Given the description of an element on the screen output the (x, y) to click on. 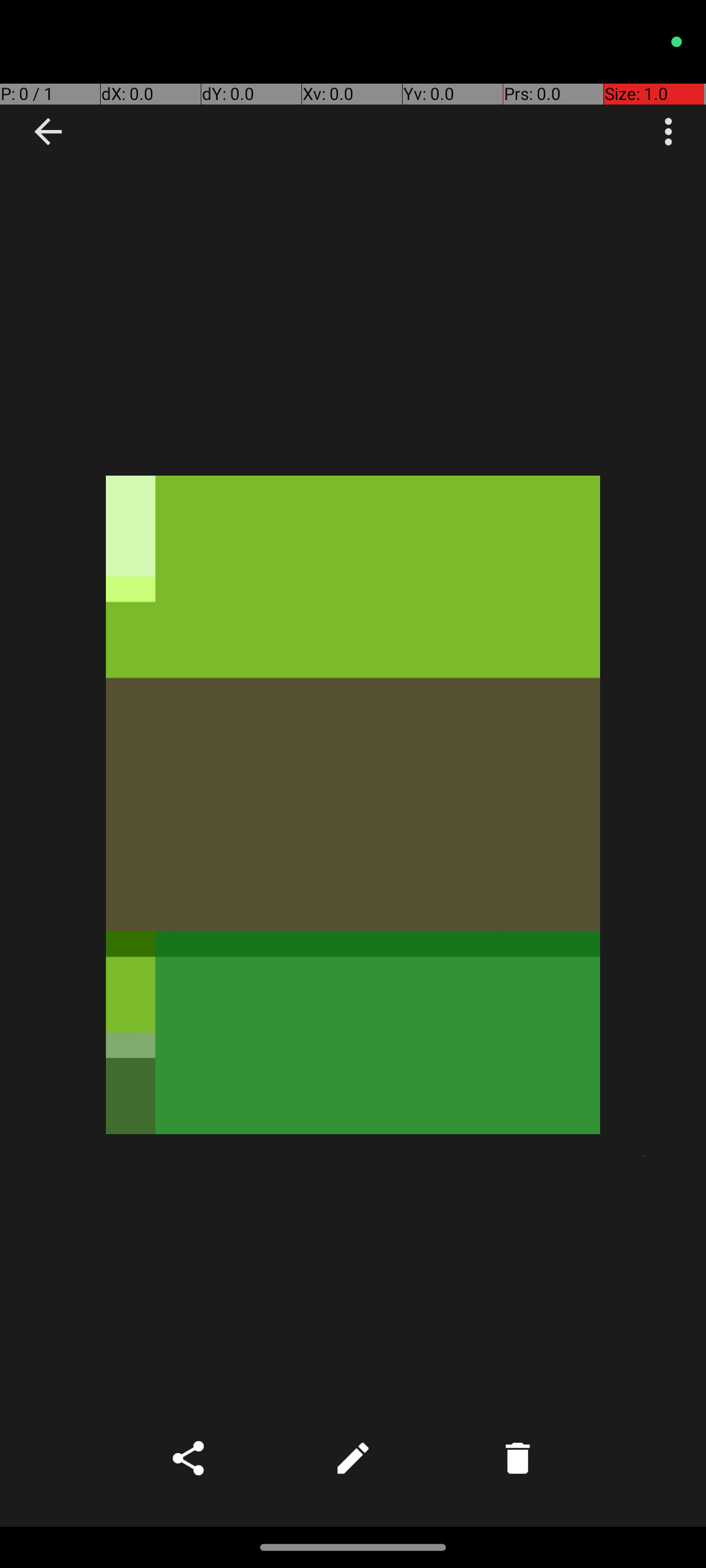
Photo taken on Oct 15, 2023 15:34:38 Element type: android.widget.ImageView (352, 804)
